Given the description of an element on the screen output the (x, y) to click on. 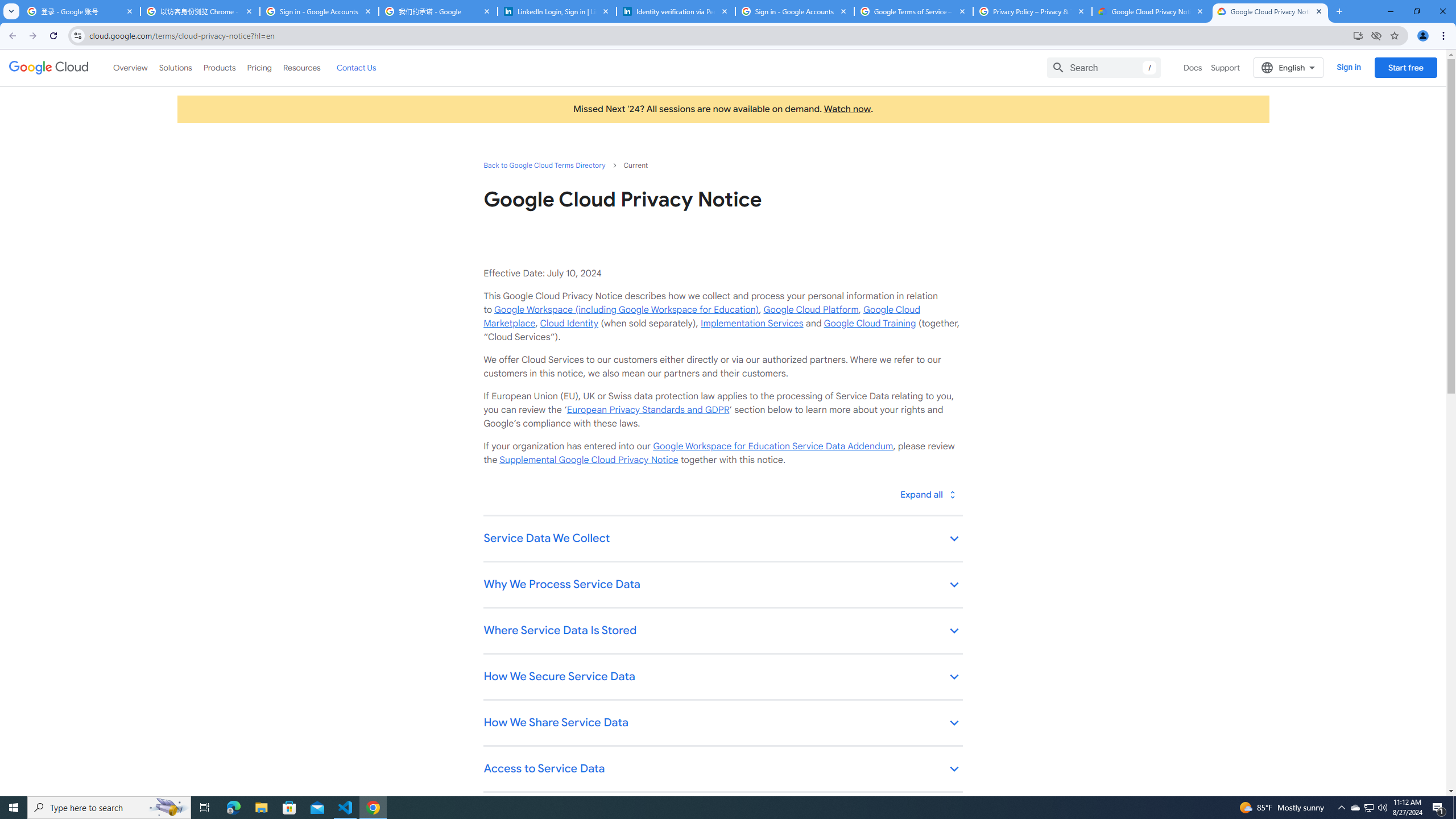
Docs (1192, 67)
Access to Service Data keyboard_arrow_down (722, 769)
Google Workspace (including Google Workspace for Education) (625, 309)
Back to Google Cloud Terms Directory (544, 165)
How We Secure Service Data keyboard_arrow_down (722, 677)
Start free (1405, 67)
Supplemental Google Cloud Privacy Notice (588, 460)
